Given the description of an element on the screen output the (x, y) to click on. 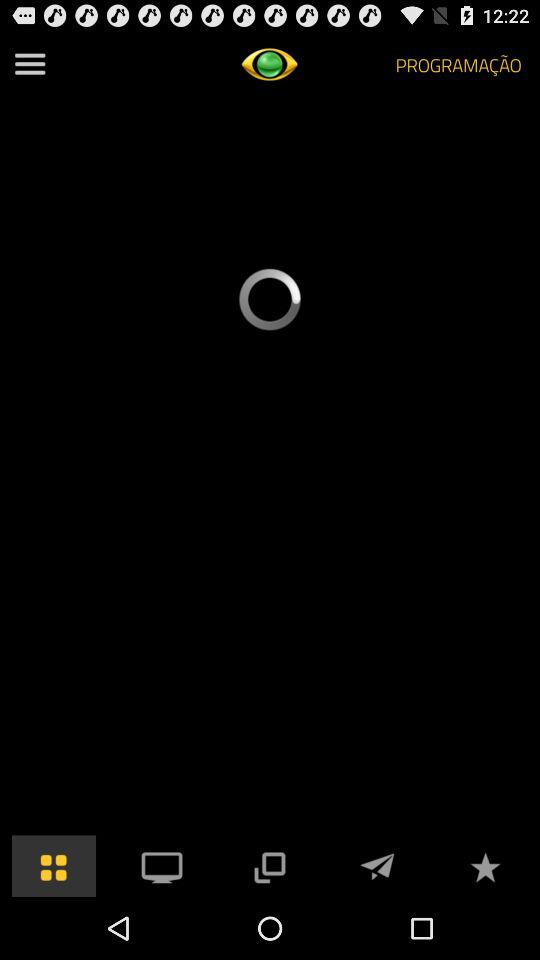
open menu (29, 64)
